Given the description of an element on the screen output the (x, y) to click on. 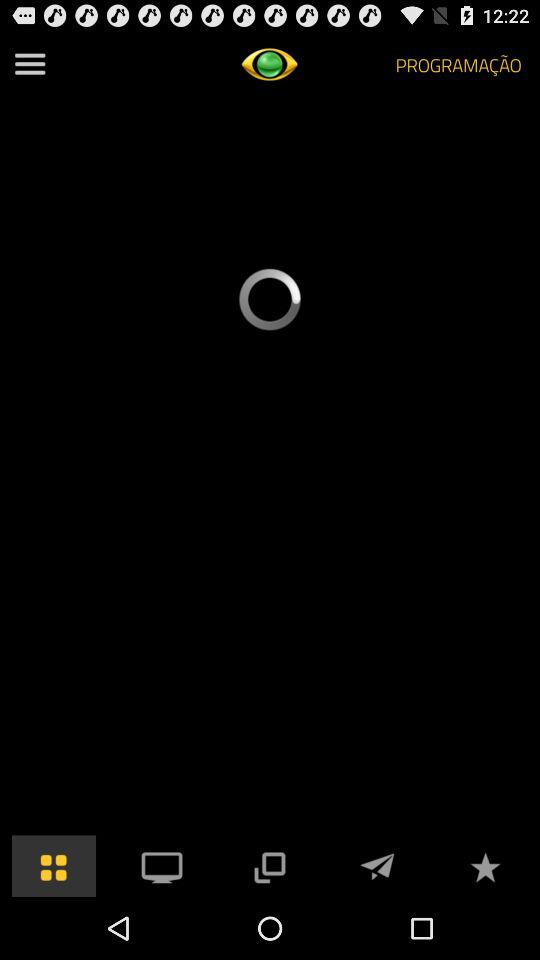
open menu (29, 64)
